Given the description of an element on the screen output the (x, y) to click on. 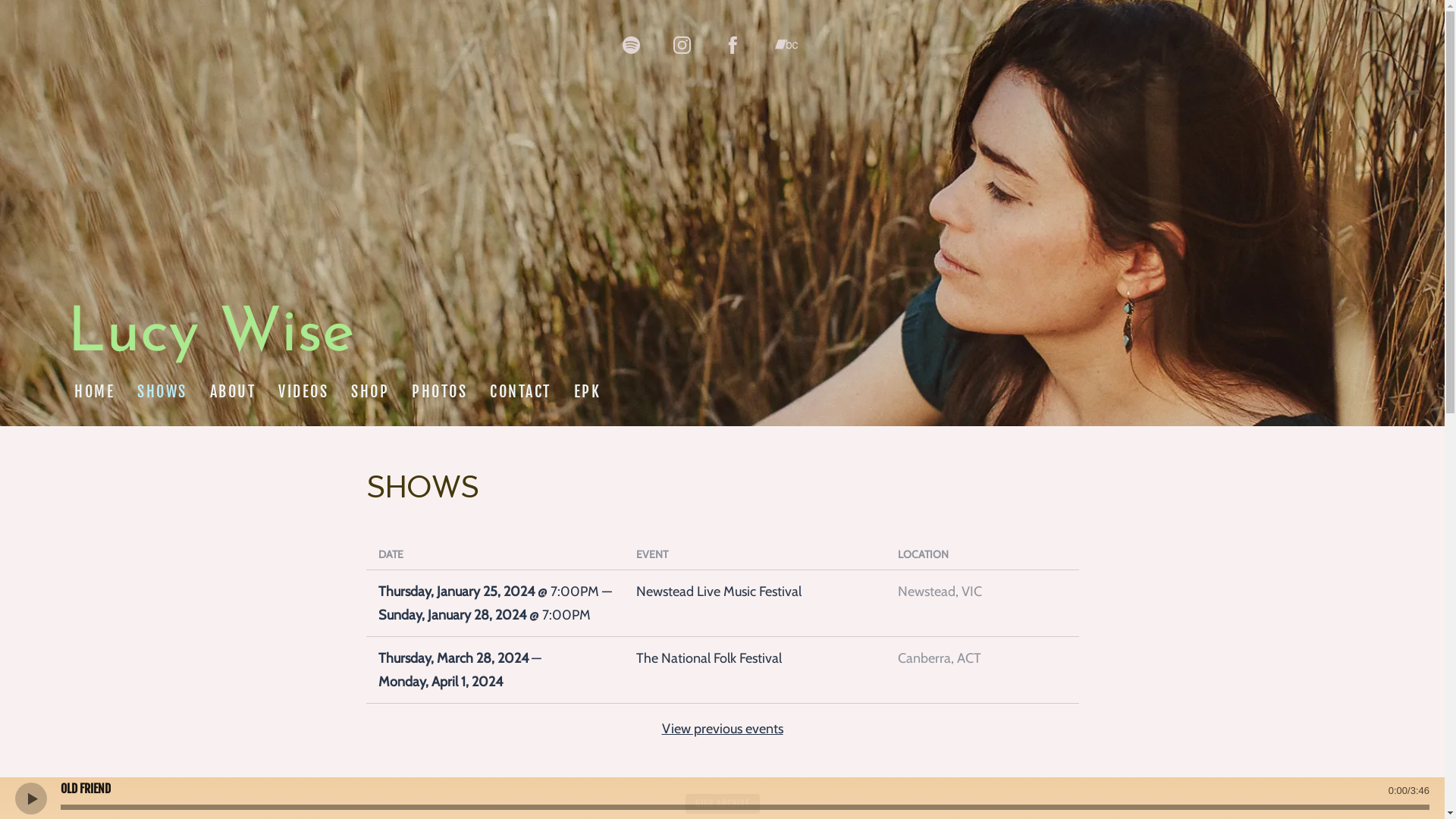
SHOP Element type: text (369, 391)
VIDEOS Element type: text (302, 391)
Newstead Live Music Festival Element type: text (754, 591)
The National Folk Festival Element type: text (754, 658)
Newstead, VIC Element type: text (981, 591)
GIGS ARCHIVE Element type: text (722, 803)
https://instagram.com/lucywisemusic Element type: hover (681, 44)
View previous events Element type: text (721, 728)
CONTACT Element type: text (520, 391)
PHOTOS Element type: text (439, 391)
HOME Element type: text (94, 391)
Lucy Wise Element type: text (210, 343)
Play Element type: hover (30, 797)
SHOWS Element type: text (161, 391)
https://lucywise.bandcamp.com/ Element type: hover (786, 44)
https://www.facebook.com/lucywisemusic Element type: hover (732, 44)
ABOUT Element type: text (232, 391)
EPK Element type: text (586, 391)
Canberra, ACT Element type: text (981, 658)
